Given the description of an element on the screen output the (x, y) to click on. 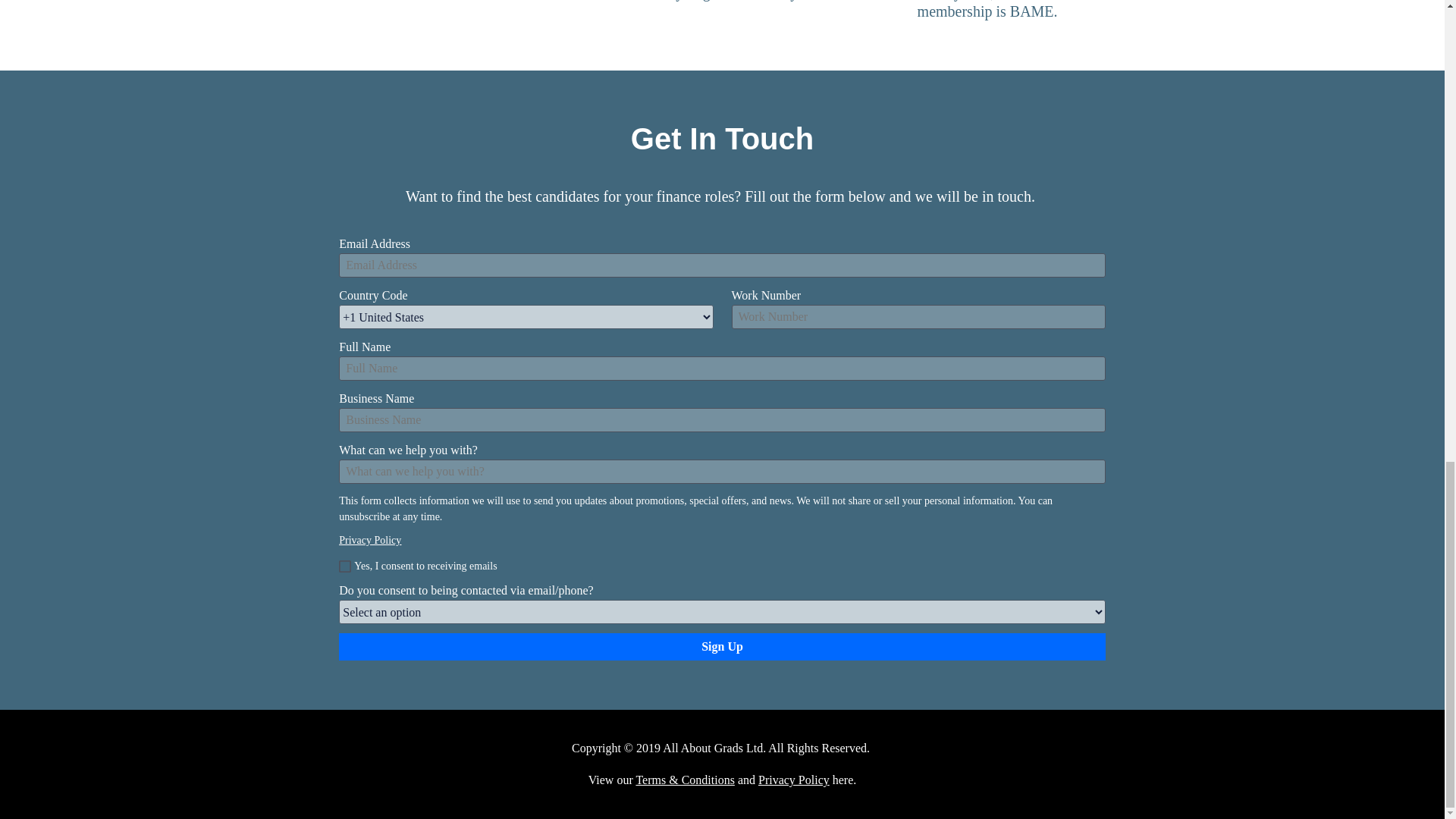
Privacy Policy (370, 540)
Sign Up (722, 646)
Privacy Policy (793, 779)
